Given the description of an element on the screen output the (x, y) to click on. 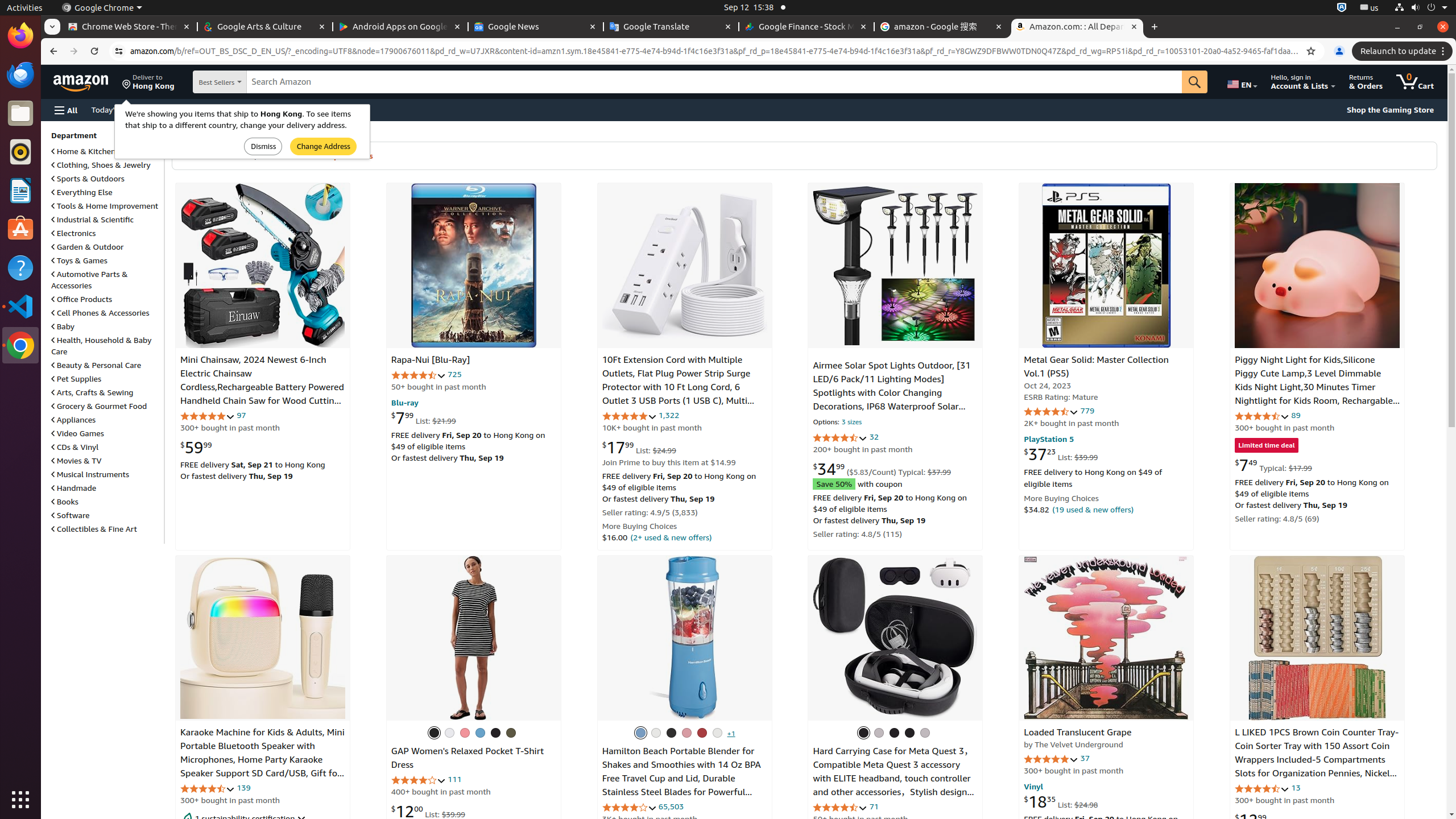
Books Element type: link (64, 501)
Show Applications Element type: toggle-button (20, 799)
Help Element type: push-button (20, 267)
Electronics Element type: link (73, 232)
725 Element type: link (454, 374)
